Given the description of an element on the screen output the (x, y) to click on. 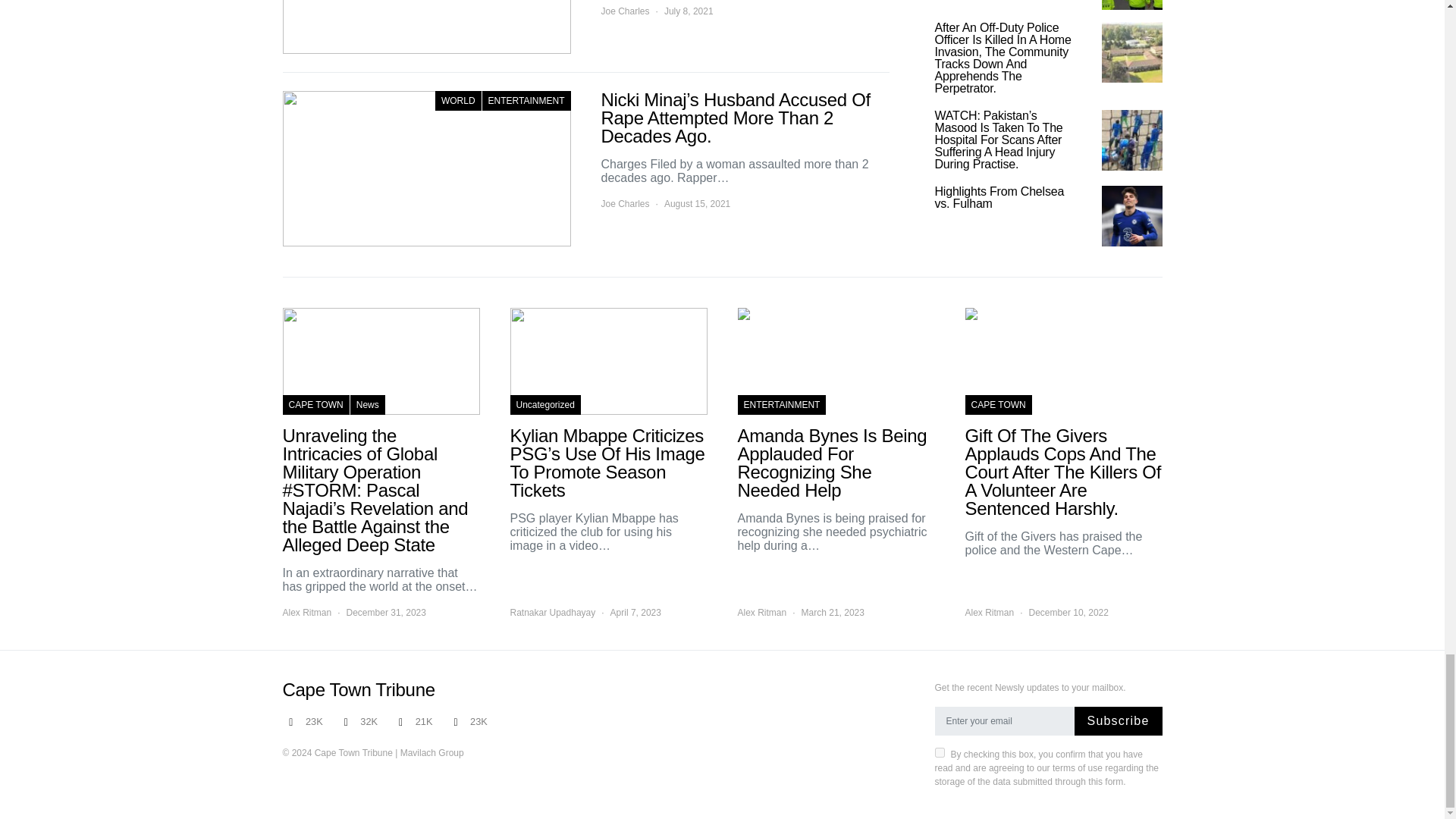
View all posts by Alex Ritman (988, 612)
View all posts by Ratnakar Upadhayay (552, 612)
View all posts by Alex Ritman (306, 612)
View all posts by Alex Ritman (761, 612)
on (938, 752)
View all posts by Joe Charles (624, 203)
View all posts by Joe Charles (624, 11)
